Given the description of an element on the screen output the (x, y) to click on. 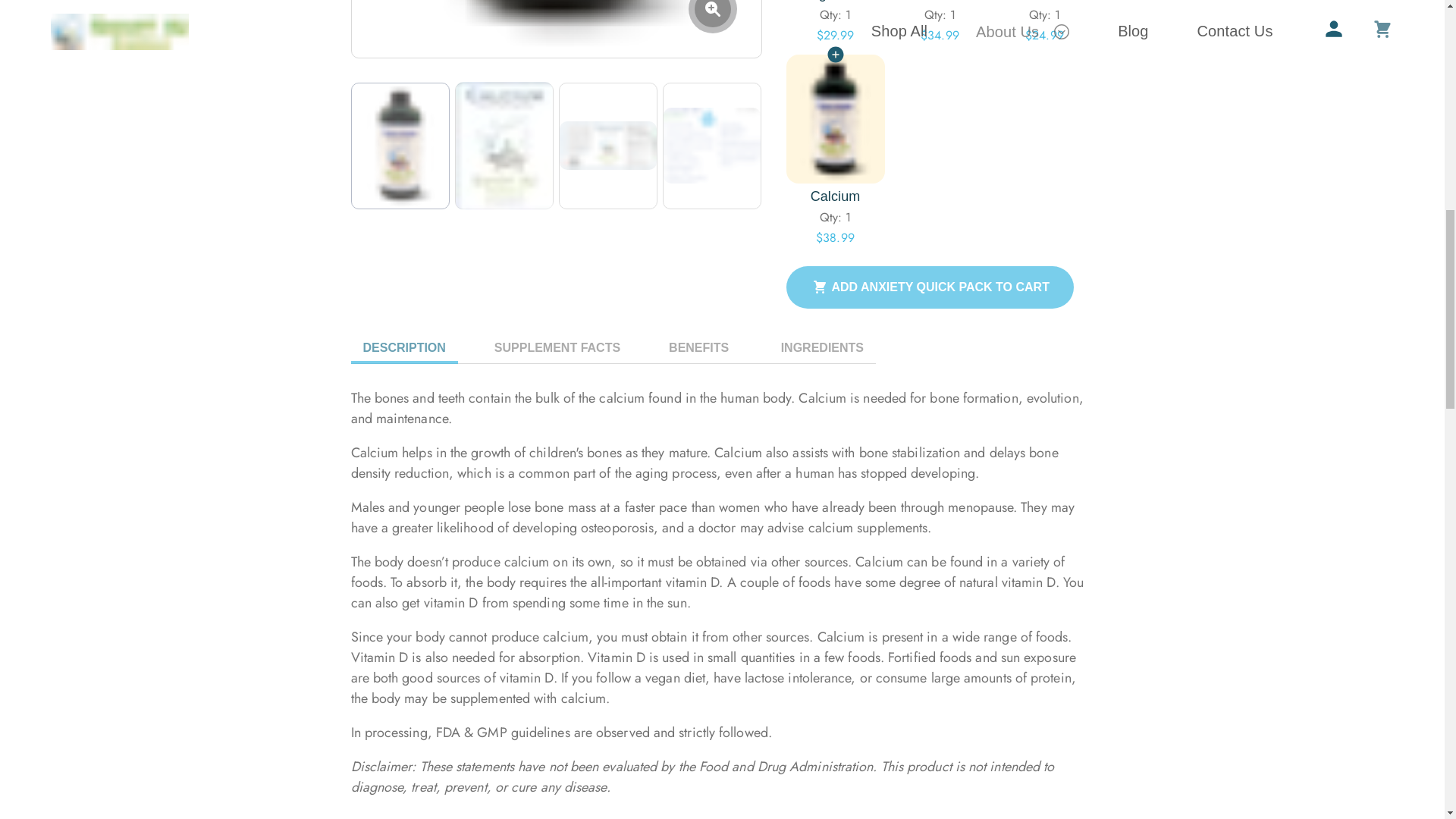
ADD ANXIETY QUICK PACK TO CART (929, 287)
BENEFITS (698, 347)
Potassium (938, 2)
Magnesium (834, 2)
 INGREDIENTS (820, 347)
DESCRIPTION (403, 347)
Calcium (834, 196)
SUPPLEMENT FACTS (556, 347)
Zinc (1043, 2)
